Given the description of an element on the screen output the (x, y) to click on. 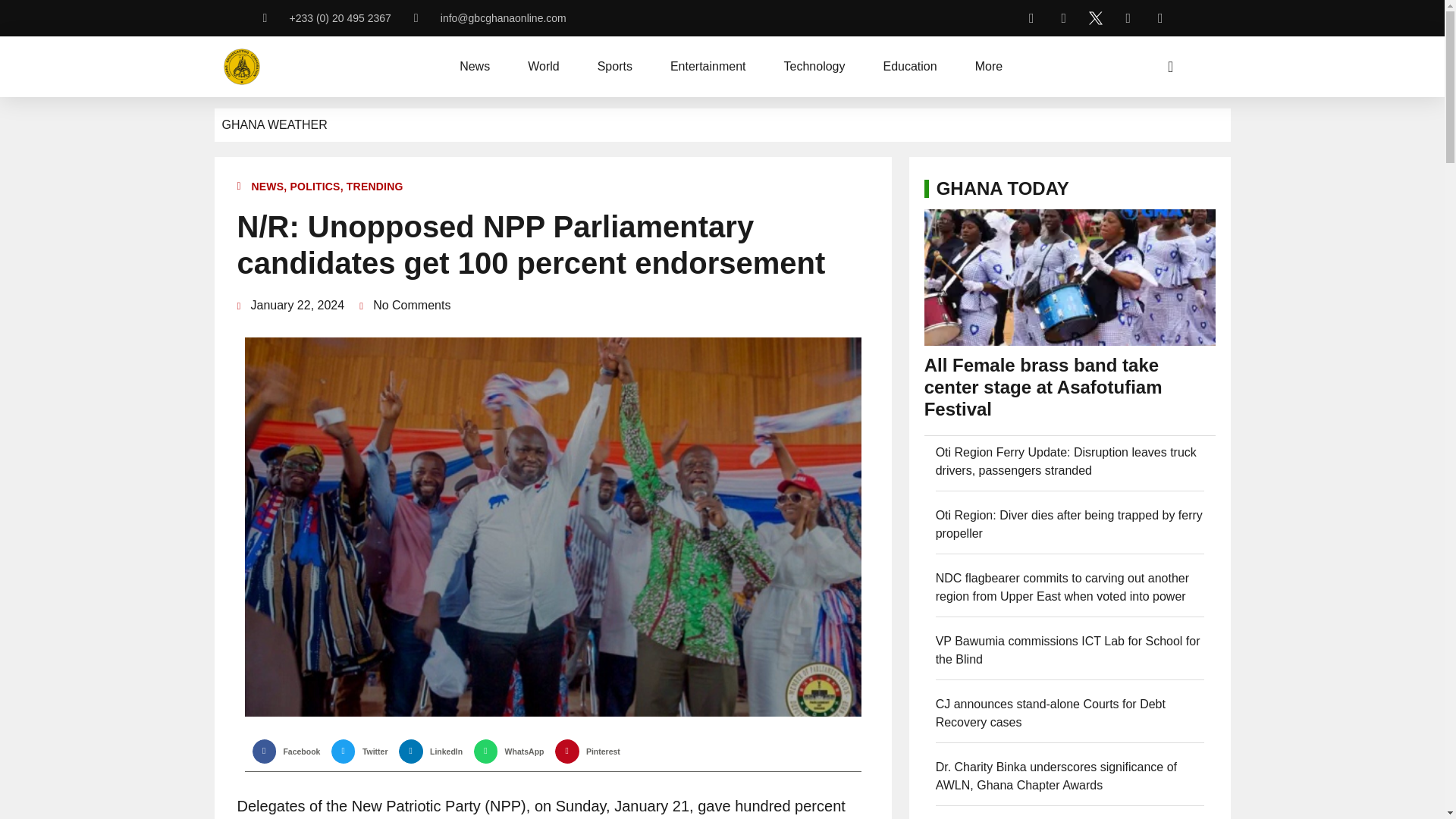
World (543, 66)
Technology (814, 66)
Sports (613, 66)
Entertainment (707, 66)
Education (909, 66)
